Given the description of an element on the screen output the (x, y) to click on. 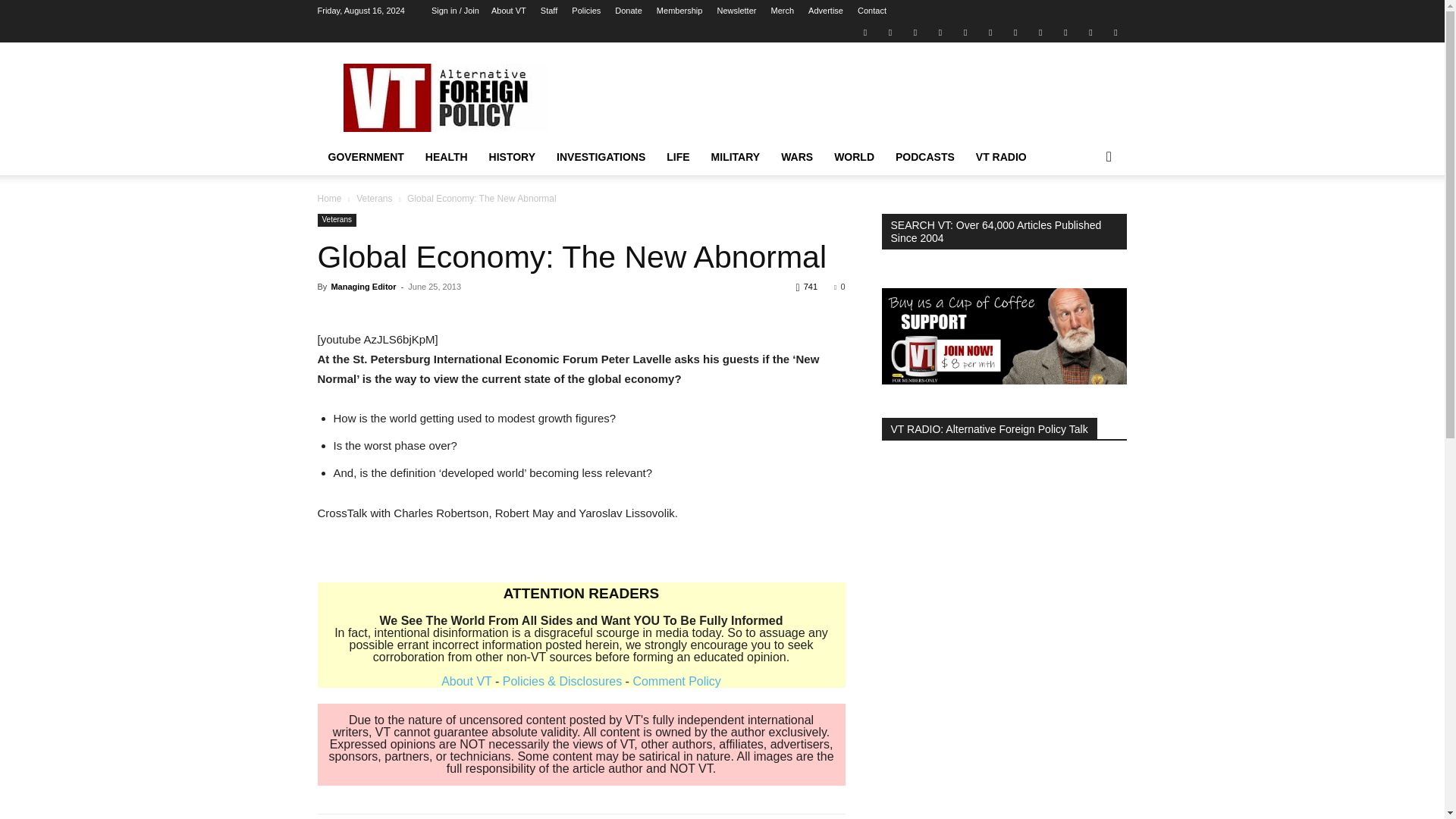
Reddit (940, 31)
Advertise (825, 10)
Contact (871, 10)
About VT (508, 10)
Membership (679, 10)
Policies (585, 10)
Facebook (890, 31)
Newsletter (735, 10)
Mail (915, 31)
Merch (781, 10)
